Given the description of an element on the screen output the (x, y) to click on. 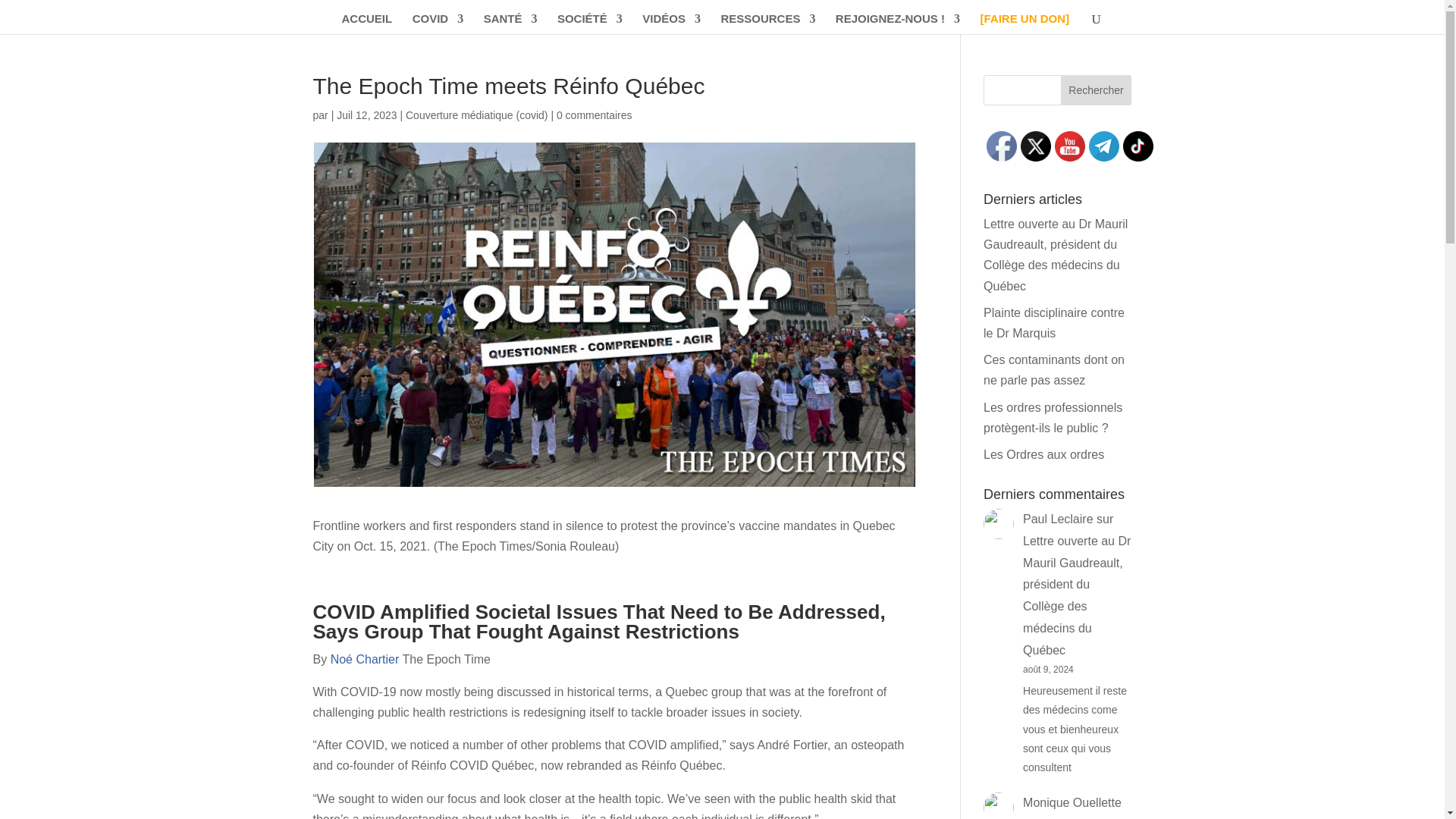
REJOIGNEZ-NOUS ! (897, 23)
Rechercher (1096, 90)
Telegram (1104, 146)
Twitter (1035, 146)
YouTube (1069, 146)
COVID (438, 23)
Facebook (1001, 146)
ACCUEIL (367, 23)
RESSOURCES (767, 23)
